Given the description of an element on the screen output the (x, y) to click on. 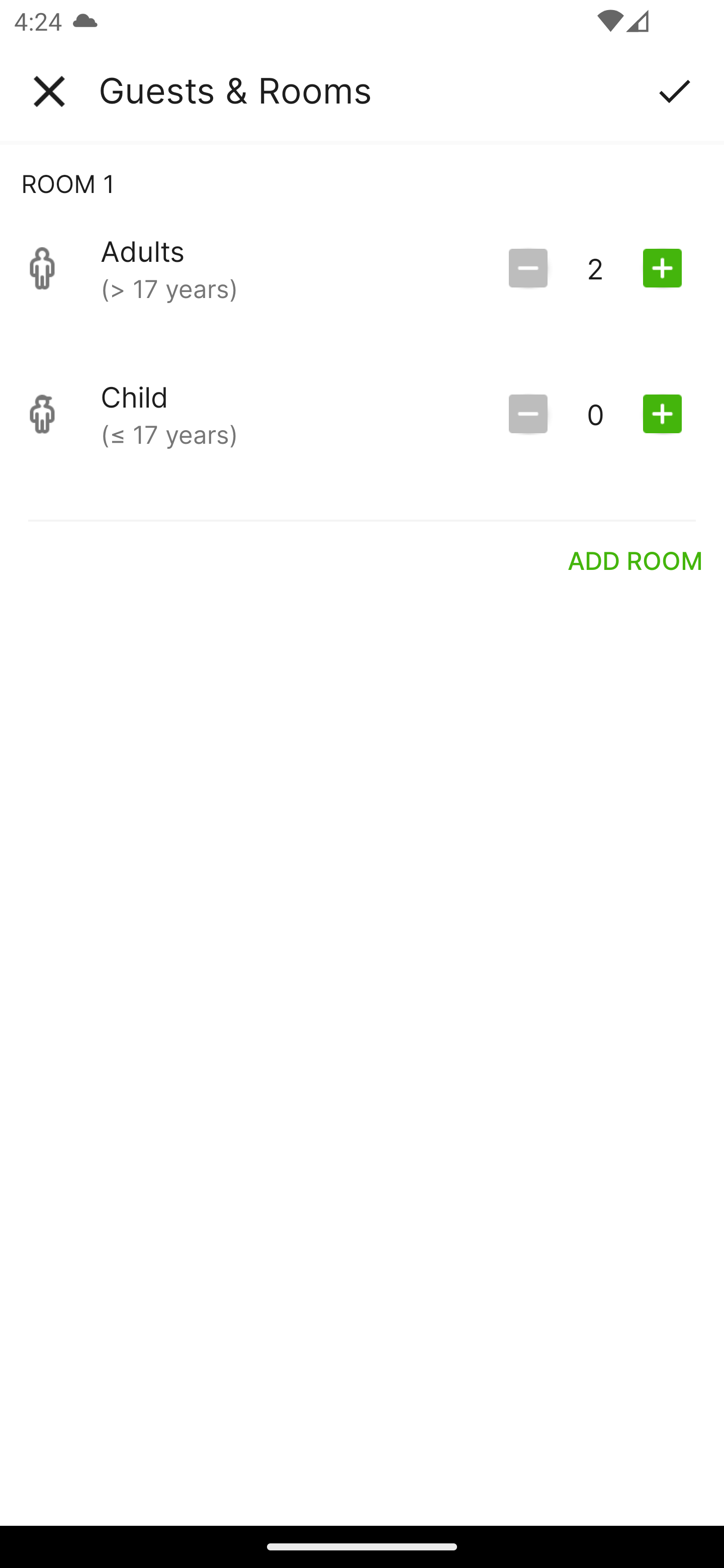
ADD ROOM (635, 560)
